Given the description of an element on the screen output the (x, y) to click on. 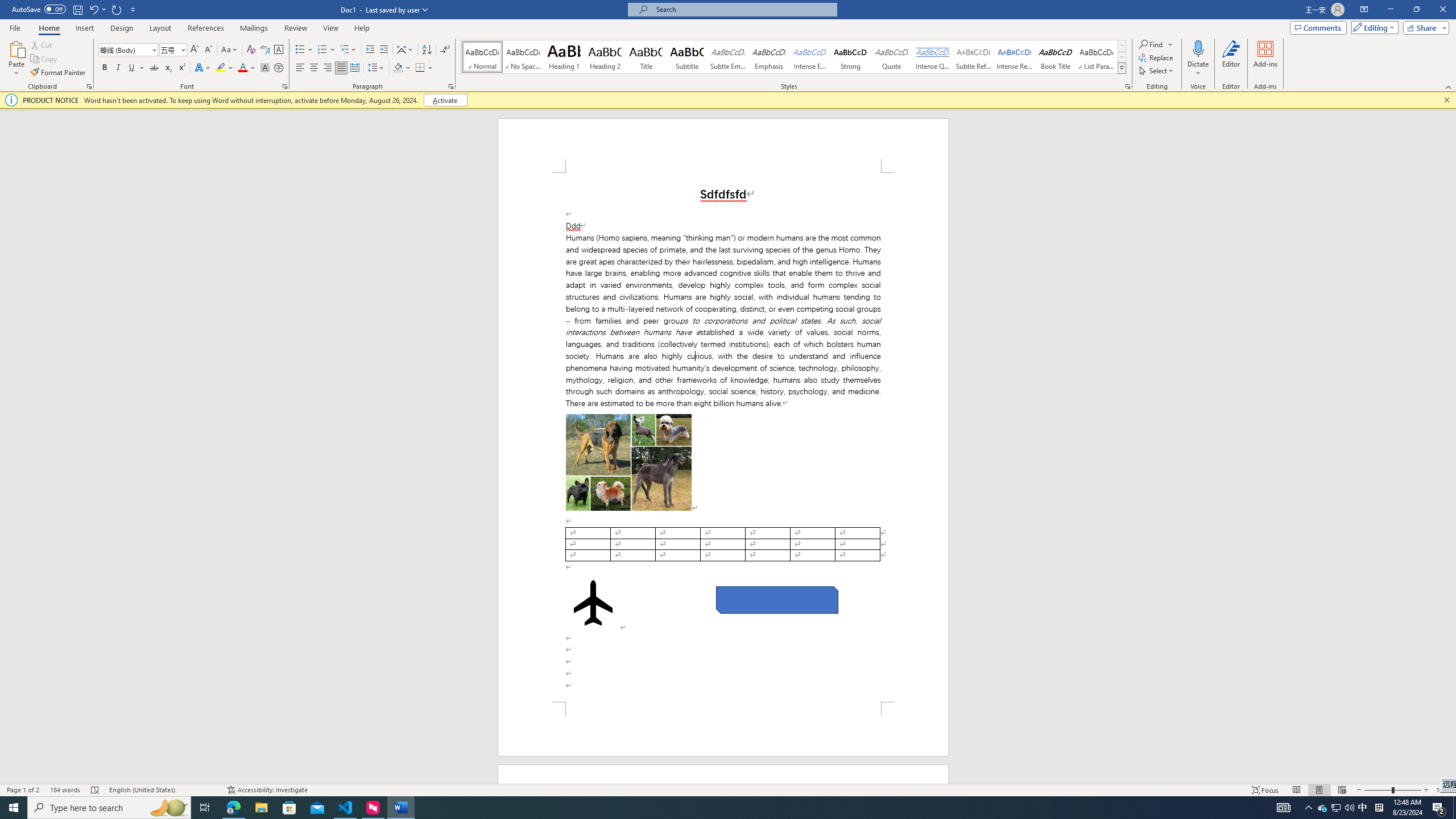
Subtle Reference (973, 56)
Page Number Page 1 of 2 (22, 790)
Page 1 content (723, 436)
Intense Quote (932, 56)
